Given the description of an element on the screen output the (x, y) to click on. 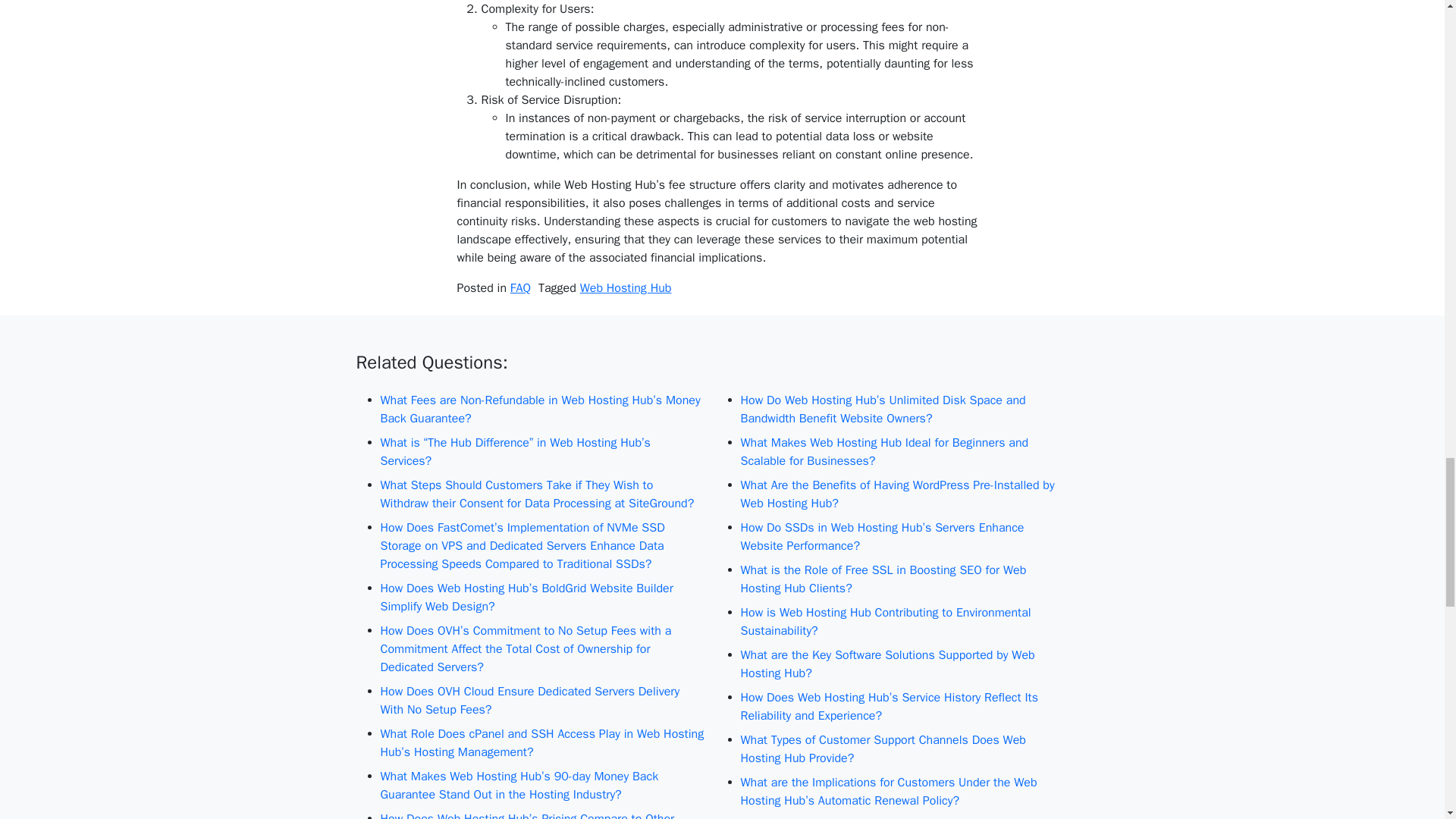
Web Hosting Hub (625, 287)
FAQ (521, 287)
